Given the description of an element on the screen output the (x, y) to click on. 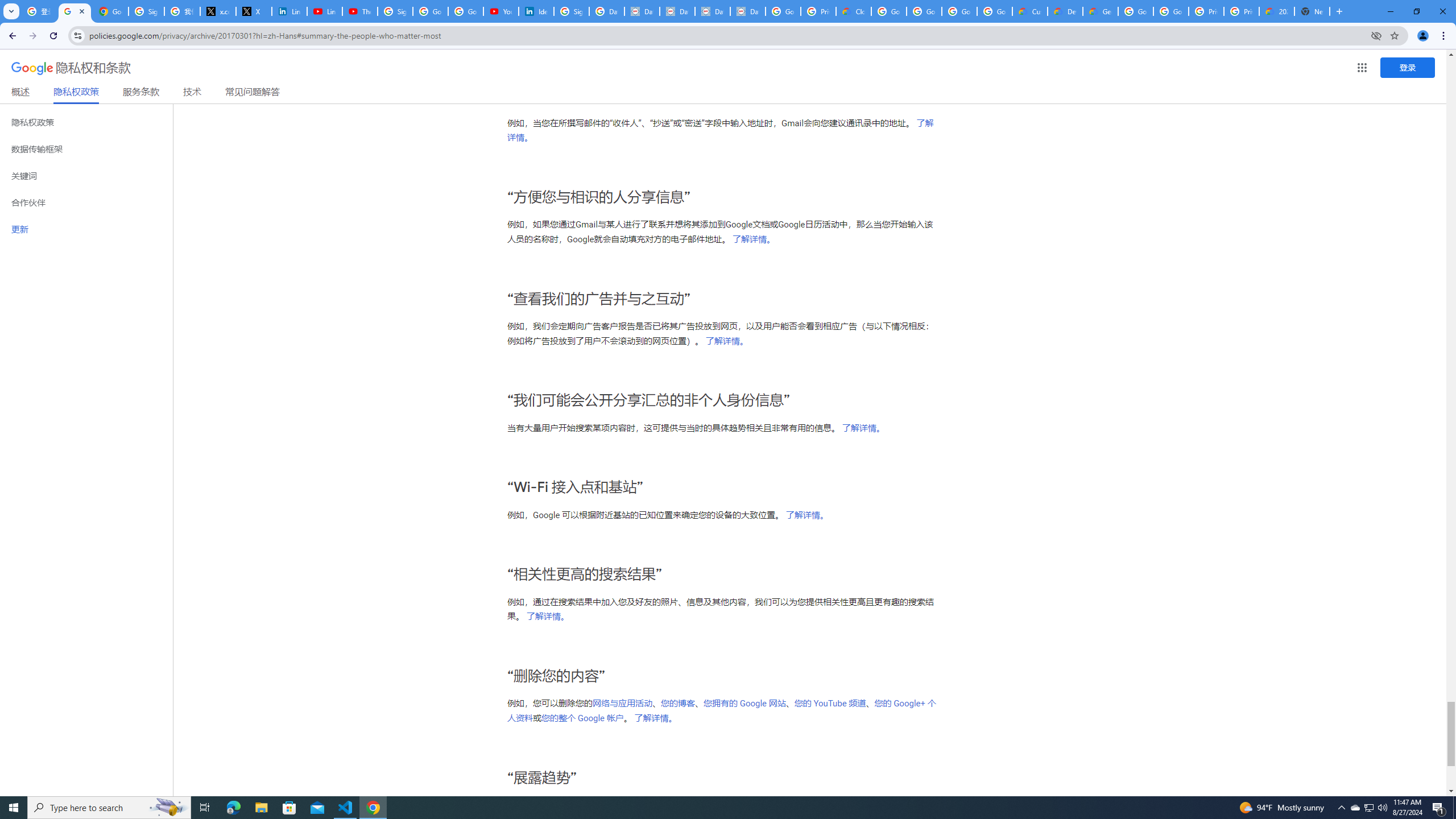
Data Privacy Framework (641, 11)
Data Privacy Framework (677, 11)
Gemini for Business and Developers | Google Cloud (1099, 11)
Sign in - Google Accounts (394, 11)
